Given the description of an element on the screen output the (x, y) to click on. 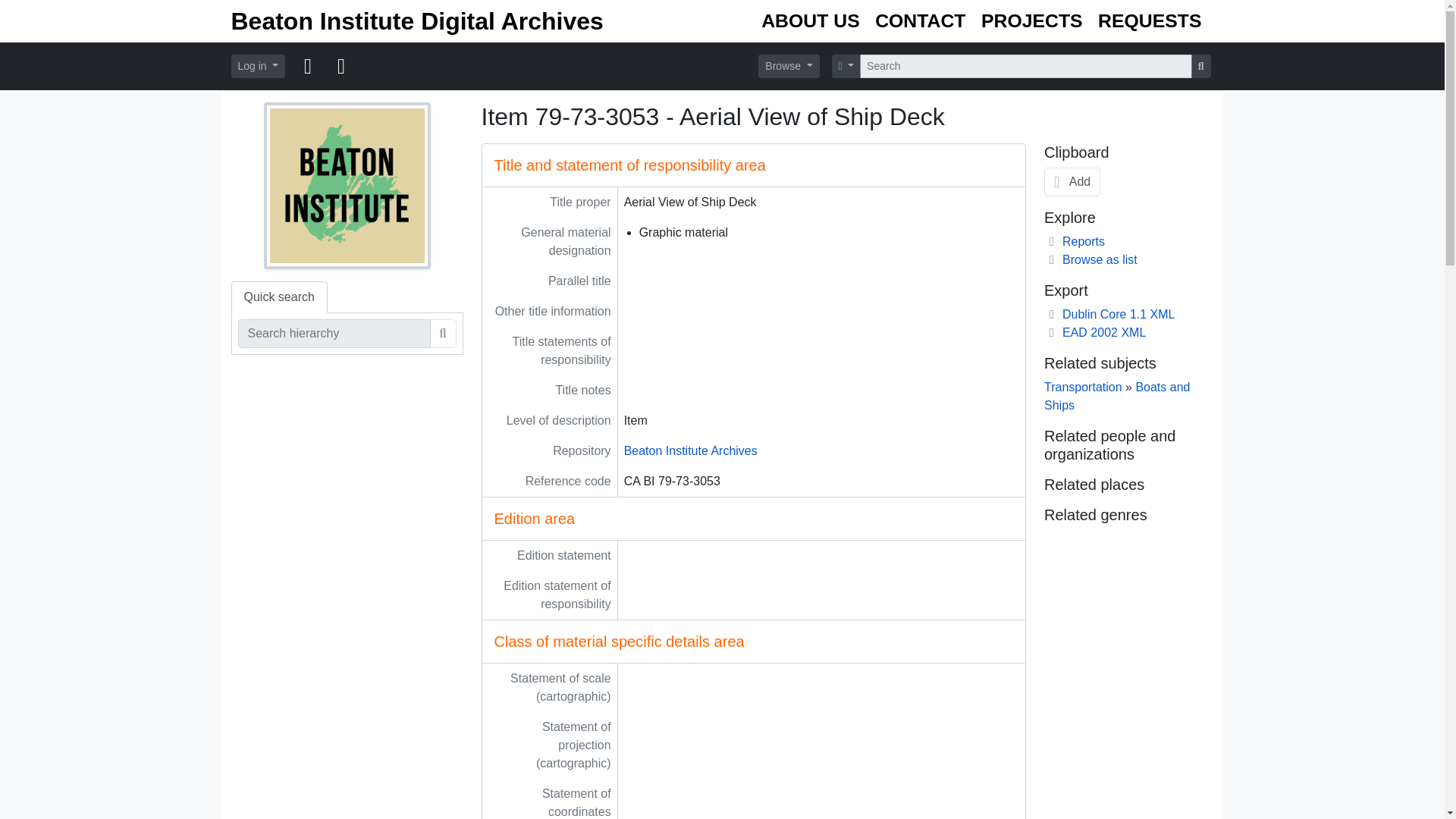
Clipboard (307, 66)
Clipboard (307, 66)
Transportation (1082, 386)
Dublin Core 1.1 XML (1108, 314)
REQUESTS (1149, 20)
Search (443, 333)
PROJECTS (1032, 20)
ABOUT US (810, 20)
Boats and Ships (1116, 395)
Add (1071, 181)
